Given the description of an element on the screen output the (x, y) to click on. 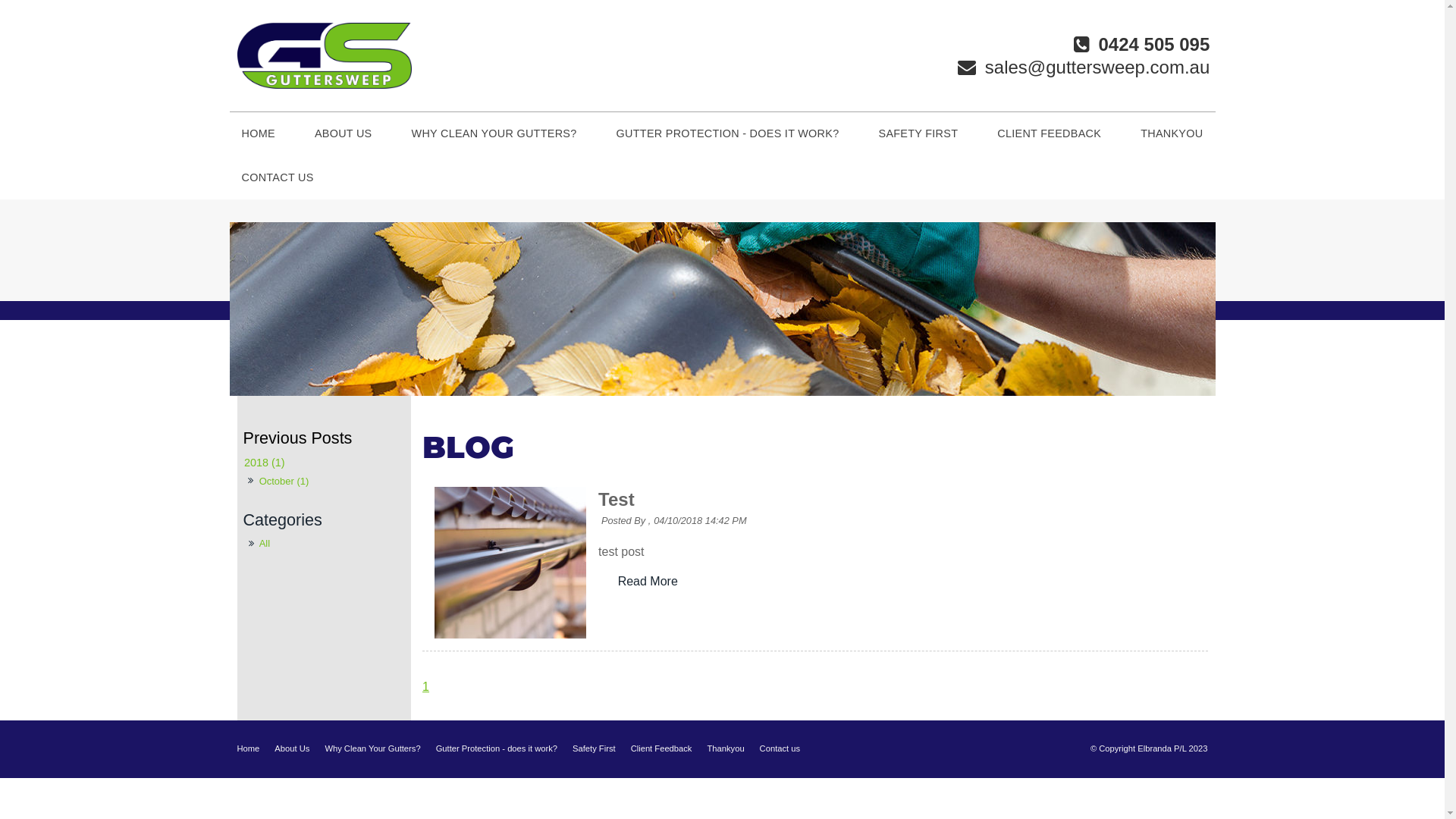
Safety First Element type: text (593, 748)
THANKYOU Element type: text (1171, 134)
Read More Element type: text (647, 581)
Contact us Element type: text (779, 748)
October (1) Element type: text (283, 481)
Home Element type: text (247, 748)
SAFETY FIRST Element type: text (917, 134)
Test
Posted By ,
04/10/2018 14:42 PM
test post
Read More Element type: text (814, 562)
sales@guttersweep.com.au Element type: text (1083, 67)
Why Clean Your Gutters? Element type: text (371, 748)
HOME Element type: text (257, 134)
Gutter Protection - does it work? Element type: text (496, 748)
Read More Element type: text (647, 581)
CONTACT US Element type: text (277, 178)
1 Element type: text (425, 686)
Client Feedback Element type: text (661, 748)
All Element type: text (325, 543)
WHY CLEAN YOUR GUTTERS? Element type: text (494, 134)
CLIENT FEEDBACK Element type: text (1049, 134)
Thankyou Element type: text (725, 748)
2018 (1) Element type: text (323, 462)
0424 505 095 Element type: text (1140, 43)
GUTTER PROTECTION - DOES IT WORK? Element type: text (727, 134)
About Us Element type: text (291, 748)
ABOUT US Element type: text (343, 134)
